Given the description of an element on the screen output the (x, y) to click on. 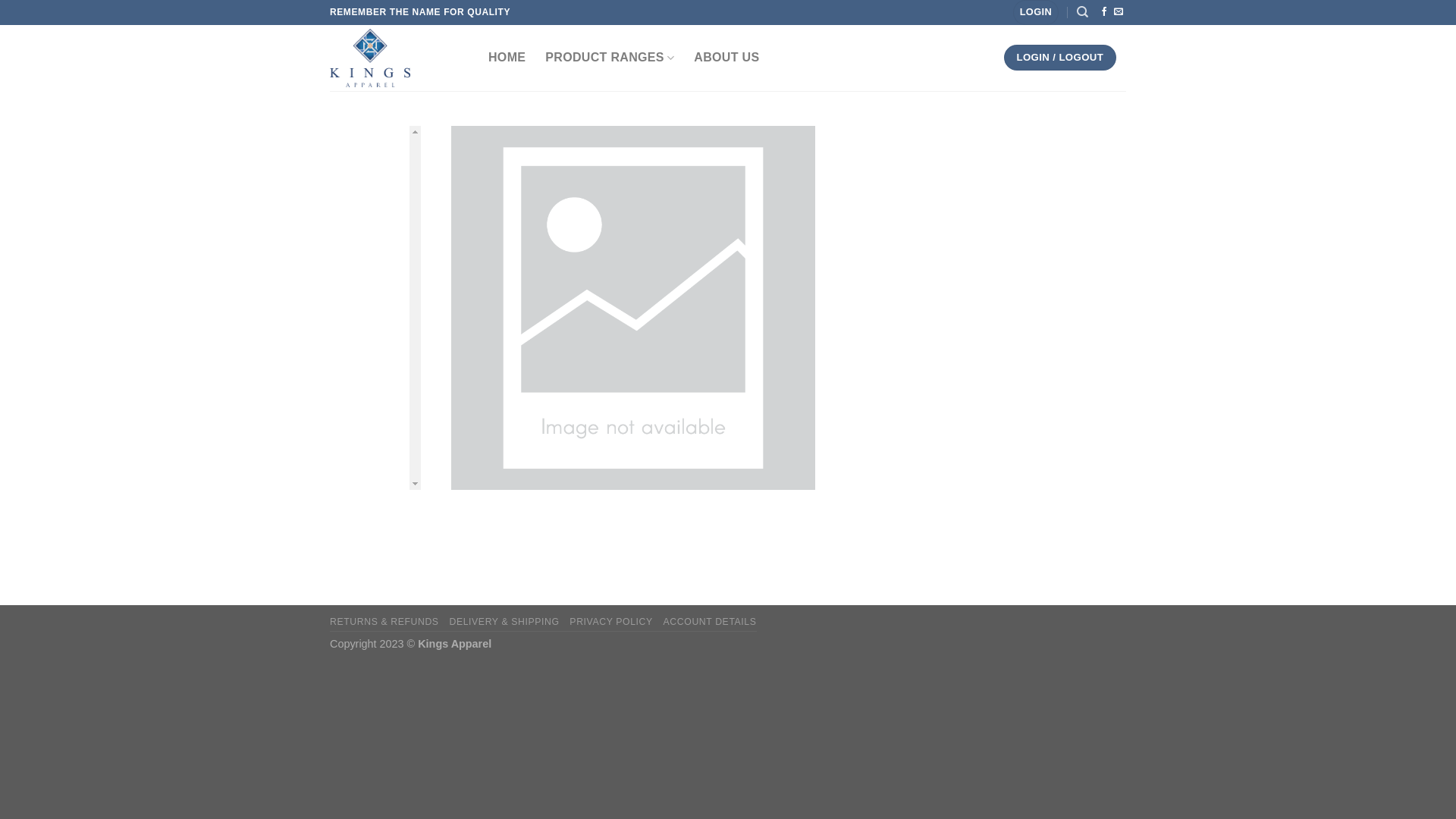
ACCOUNT DETAILS Element type: text (709, 621)
LOGIN Element type: text (1035, 12)
RETURNS & REFUNDS Element type: text (384, 621)
Follow on Facebook Element type: hover (1103, 11)
PRODUCT RANGES Element type: text (609, 57)
ABOUT US Element type: text (726, 57)
PRIVACY POLICY Element type: text (610, 621)
HOME Element type: text (506, 57)
DELIVERY & SHIPPING Element type: text (503, 621)
LOGIN / LOGOUT Element type: text (1060, 57)
Send us an email Element type: hover (1118, 11)
